Given the description of an element on the screen output the (x, y) to click on. 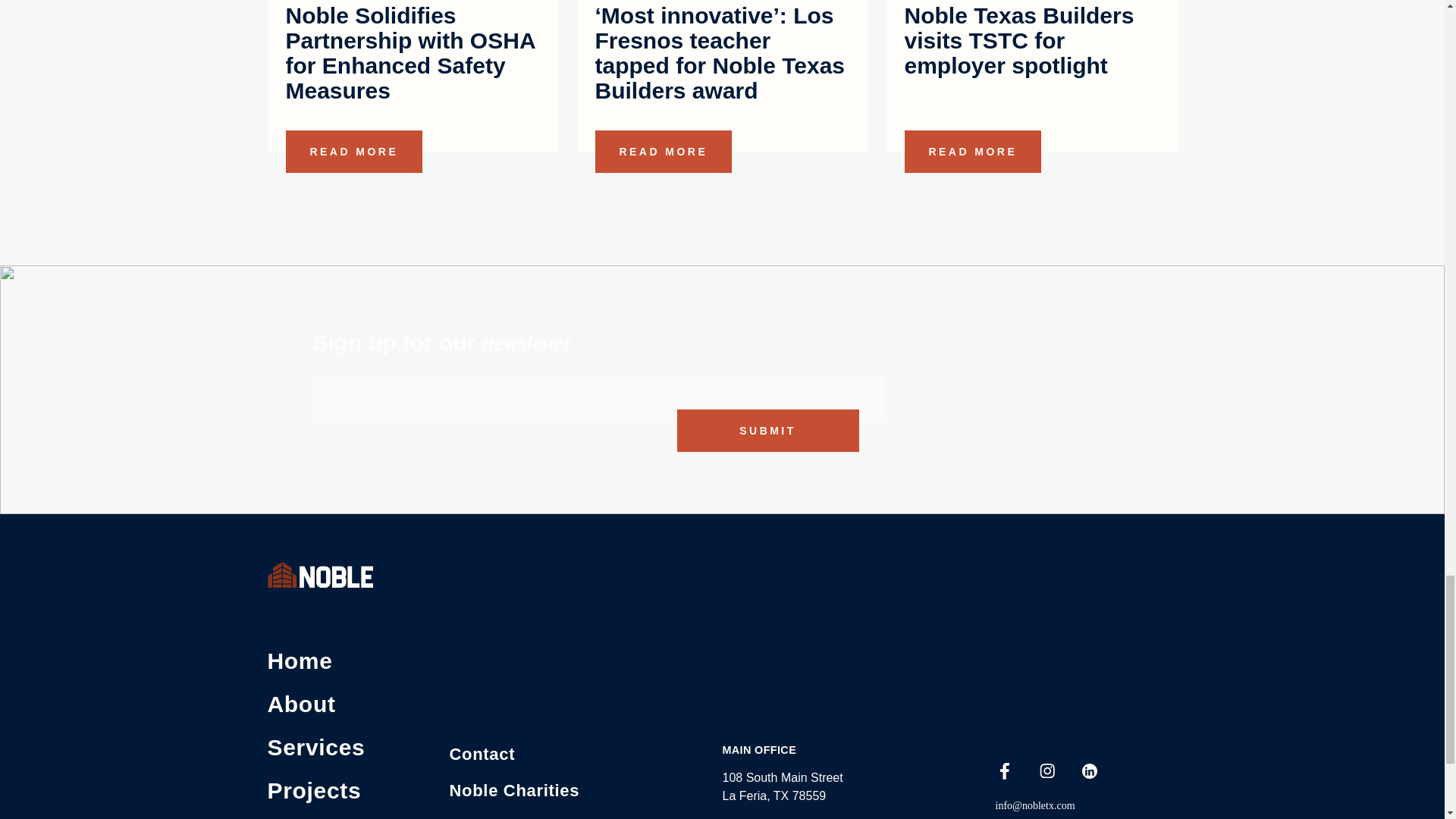
READ MORE (353, 151)
